Given the description of an element on the screen output the (x, y) to click on. 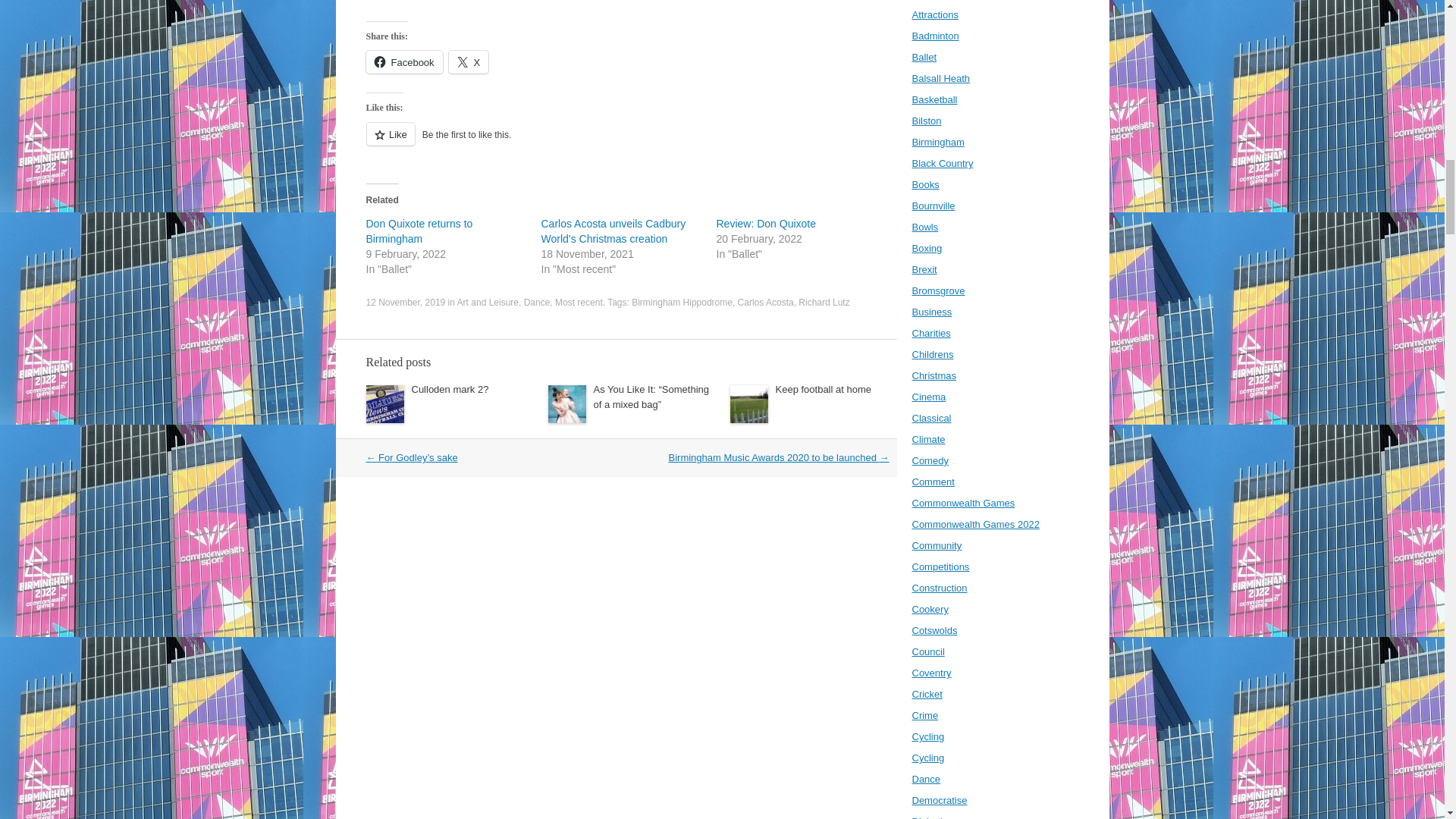
Richard Lutz (822, 302)
Facebook (403, 61)
Review: Don Quixote (765, 223)
Carlos Acosta (765, 302)
Click to share on X (468, 61)
X (468, 61)
Don Quixote returns to Birmingham (418, 230)
12 November, 2019 (405, 302)
Review: Don Quixote (765, 223)
Art and Leisure (487, 302)
Most recent (578, 302)
Like or Reblog (630, 142)
Birmingham Hippodrome (681, 302)
Click to share on Facebook (403, 61)
Culloden mark 2? (448, 389)
